Given the description of an element on the screen output the (x, y) to click on. 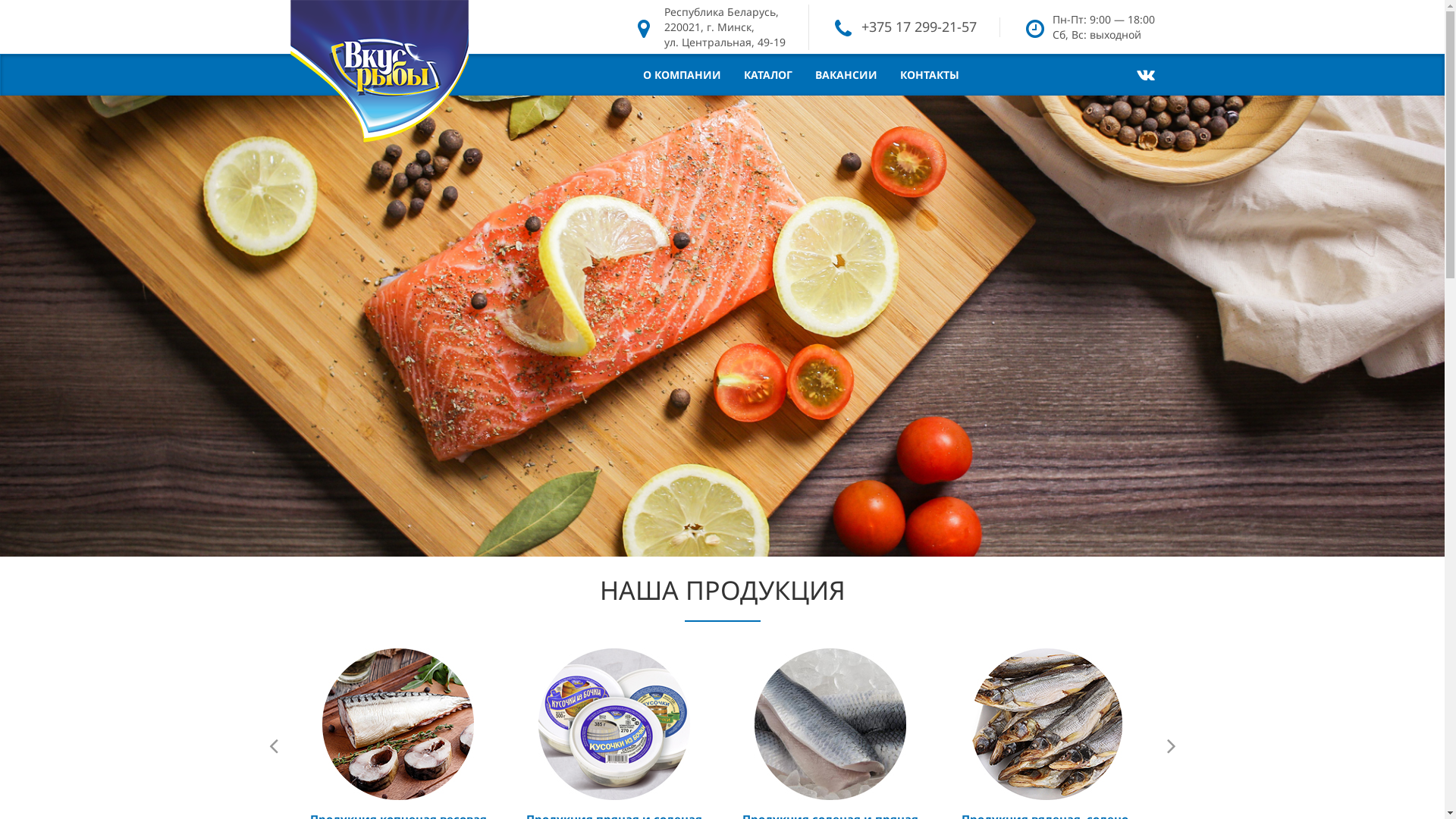
Previous Element type: text (274, 746)
Next Element type: text (1169, 746)
